Given the description of an element on the screen output the (x, y) to click on. 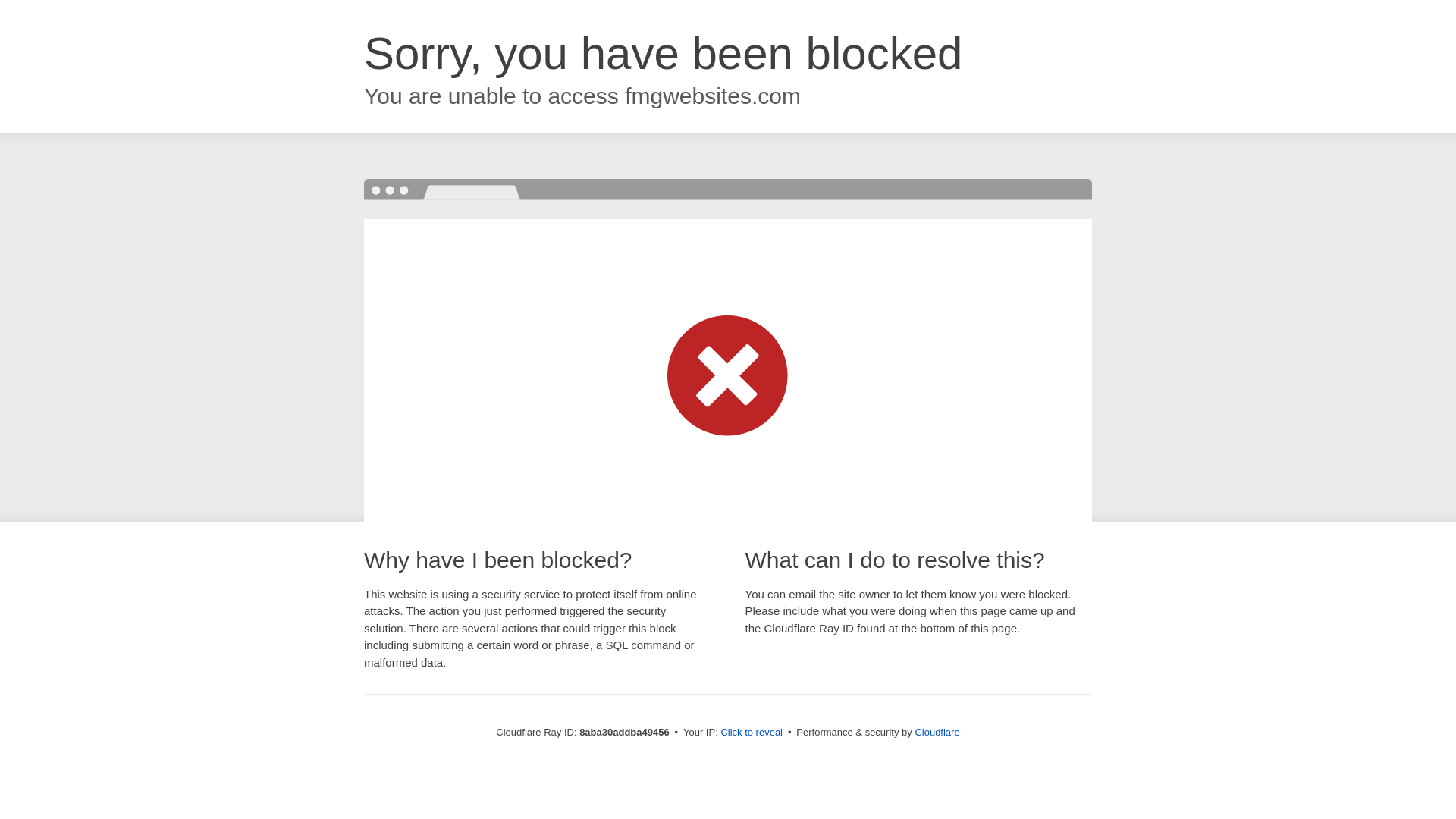
Cloudflare (936, 731)
Click to reveal (751, 732)
